Given the description of an element on the screen output the (x, y) to click on. 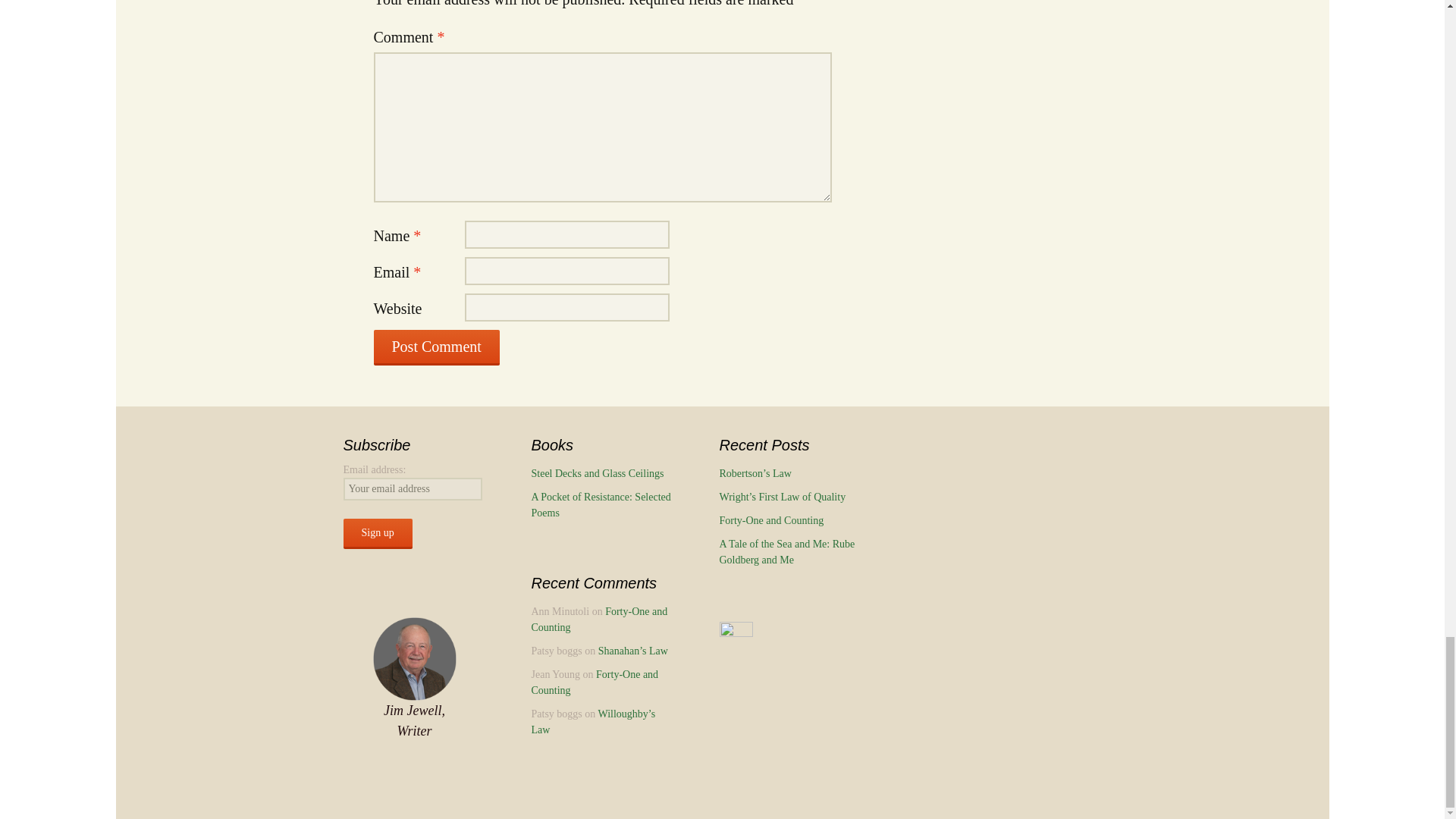
Steel Decks and Glass Ceilings (597, 473)
Sign up (377, 533)
Post Comment (435, 347)
A Pocket of Resistance: Selected Poems (600, 504)
Sign up (377, 533)
Post Comment (435, 347)
